Given the description of an element on the screen output the (x, y) to click on. 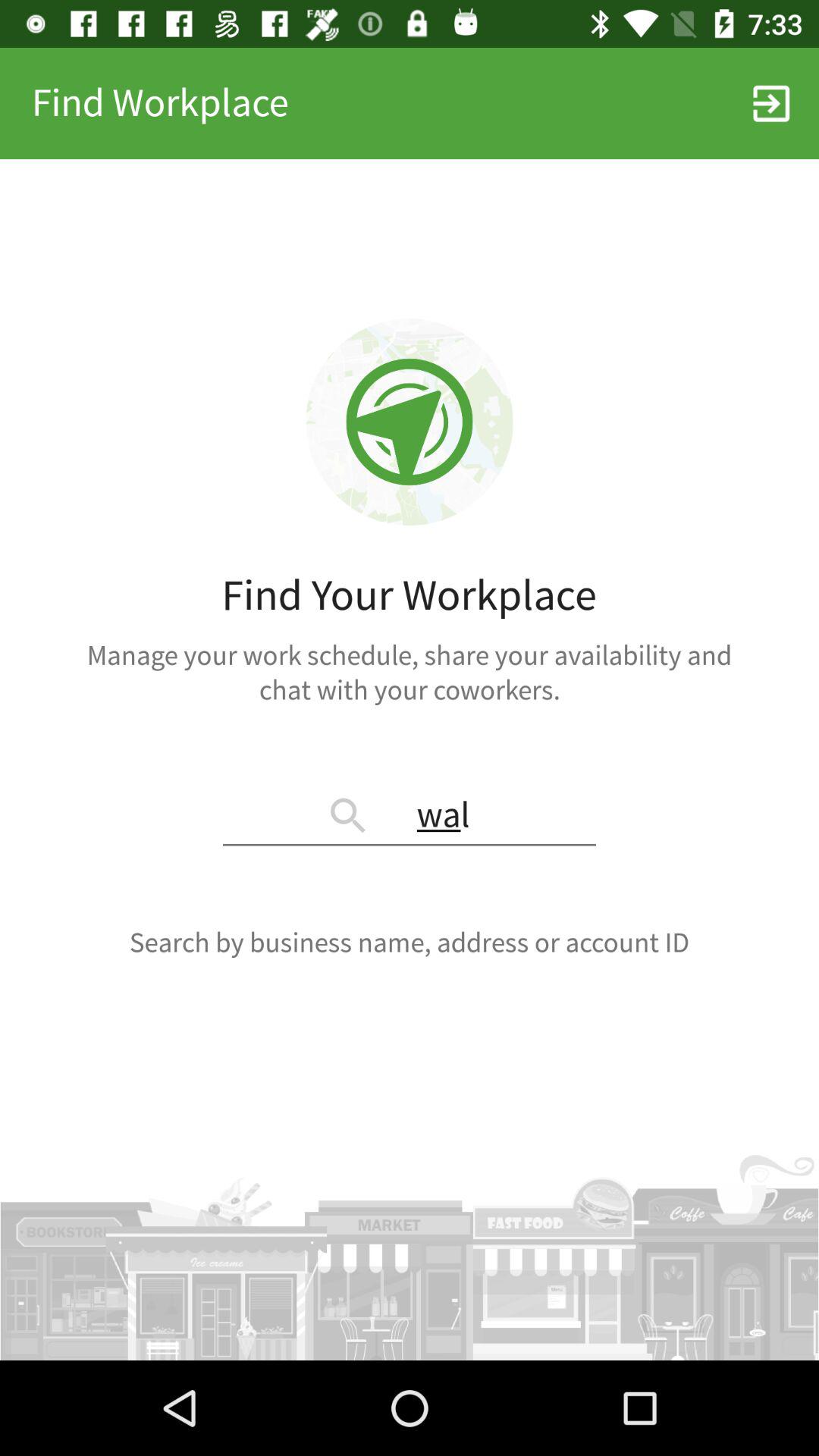
open the item above search by business item (409, 816)
